Given the description of an element on the screen output the (x, y) to click on. 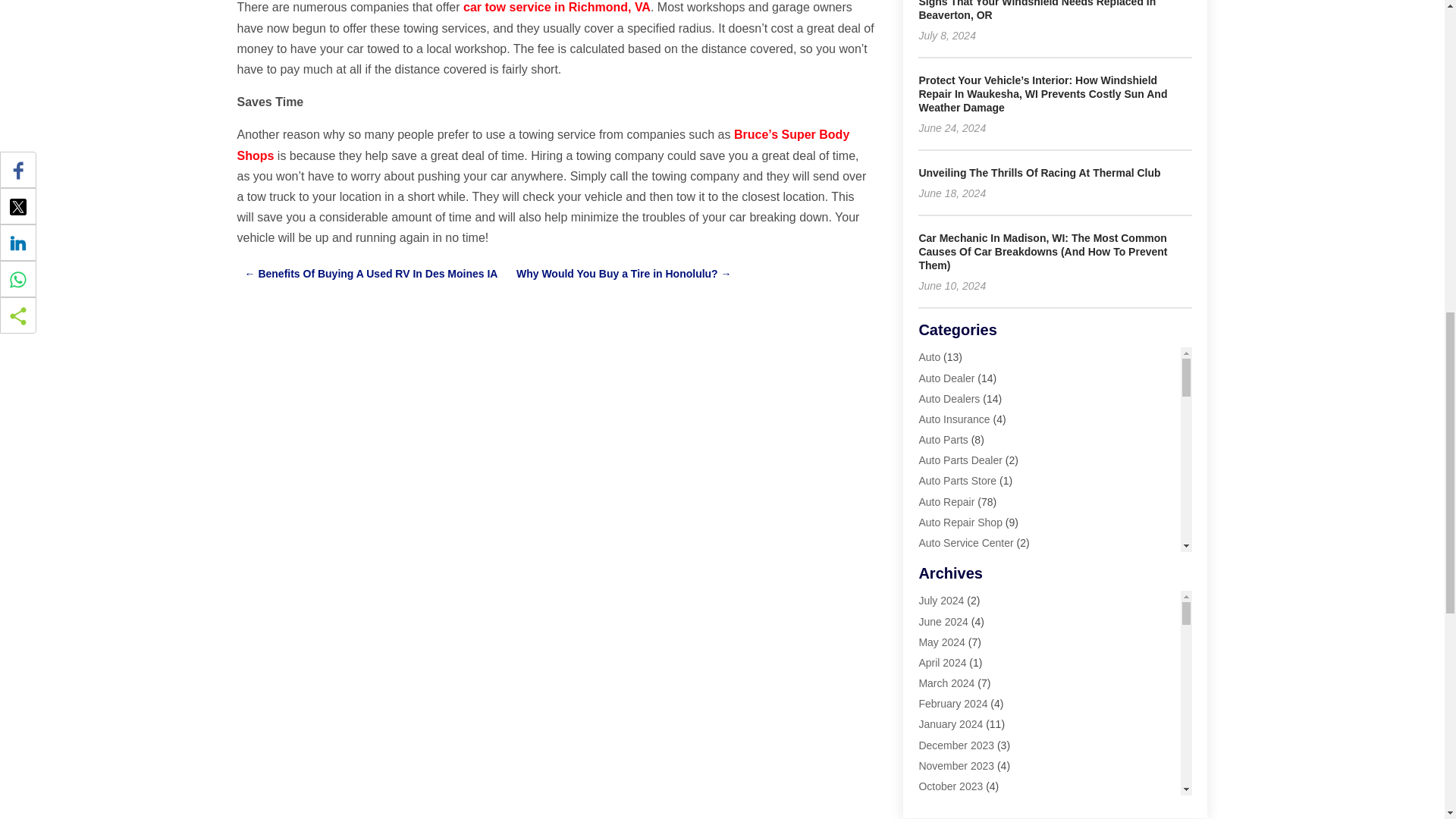
Auto Repair (946, 501)
Auto Insurance (954, 419)
car tow service in Richmond, VA (556, 6)
Auto Service Center (965, 542)
Auto Parts Store (956, 480)
Unveiling The Thrills Of Racing At Thermal Club (1039, 173)
Auto Parts Dealer (960, 460)
Auto Dealer (946, 378)
Automobiles (947, 604)
Auto (929, 357)
Automobile (944, 583)
Auto Parts (943, 439)
Auto-Products (951, 563)
Auto Repair Shop (960, 522)
Signs That Your Windshield Needs Replaced In Beaverton, OR (1037, 10)
